Given the description of an element on the screen output the (x, y) to click on. 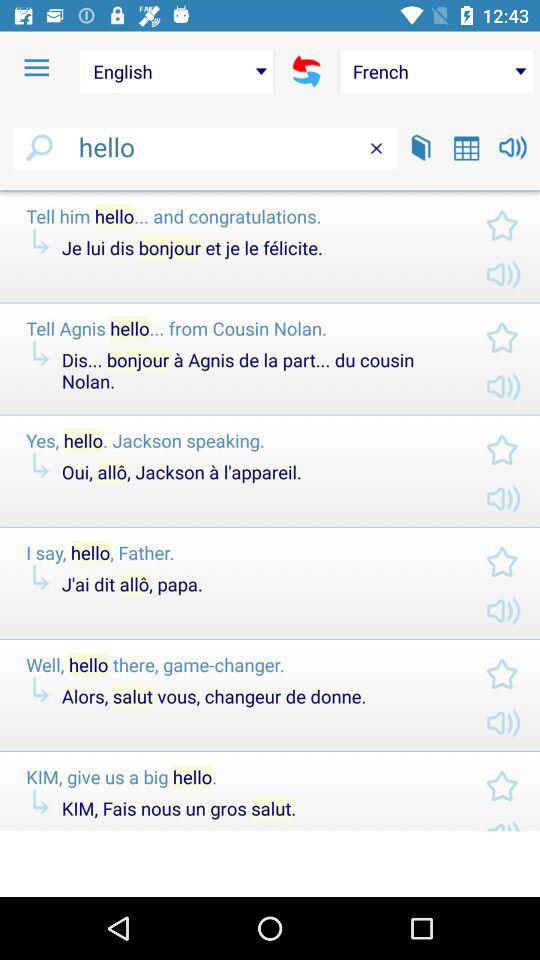
press the item to the right of the english item (306, 71)
